Given the description of an element on the screen output the (x, y) to click on. 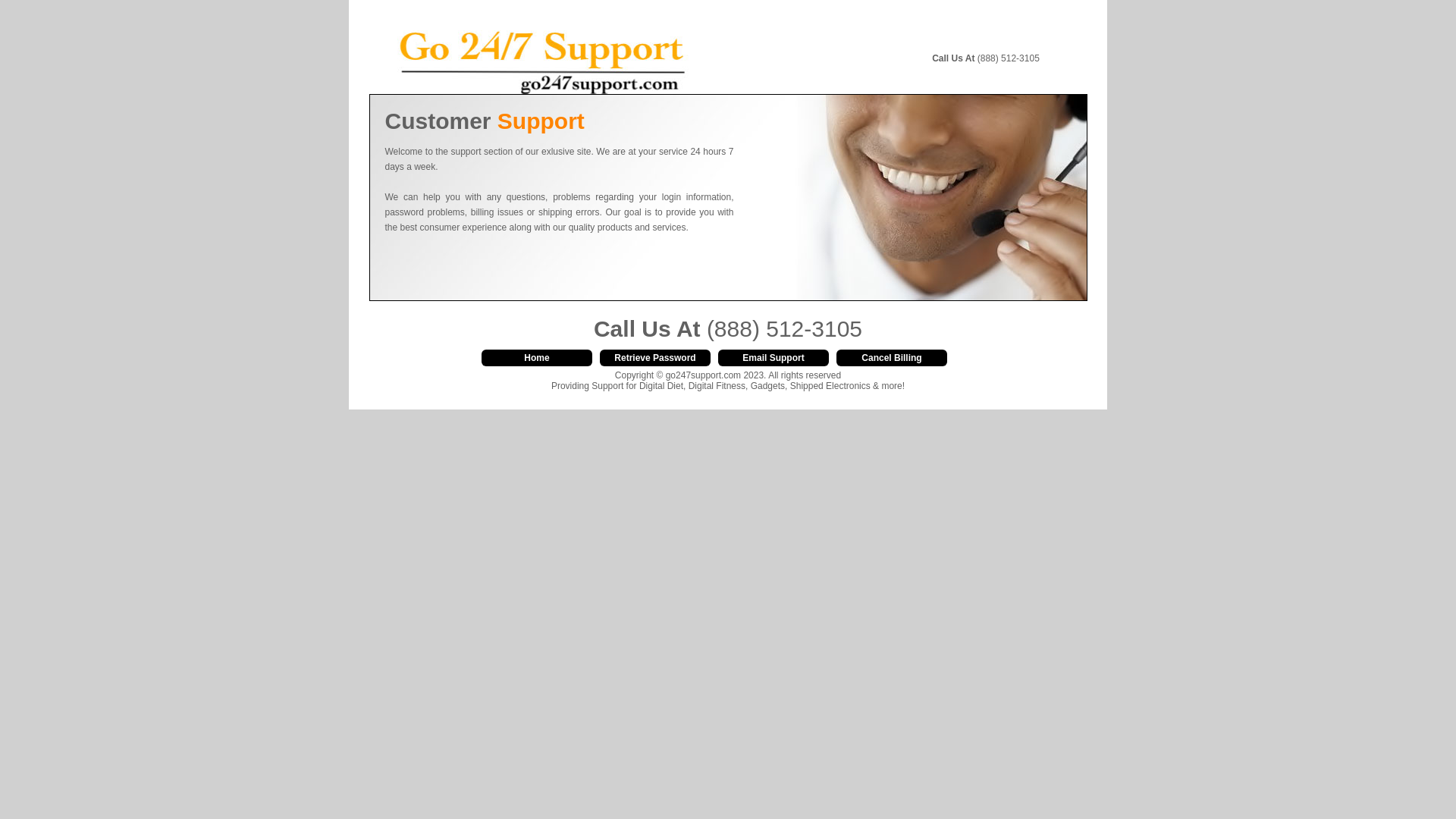
Retrieve Password Element type: text (654, 357)
Home Element type: text (536, 357)
Cancel Billing Element type: text (891, 357)
Email Support Element type: text (773, 357)
